Given the description of an element on the screen output the (x, y) to click on. 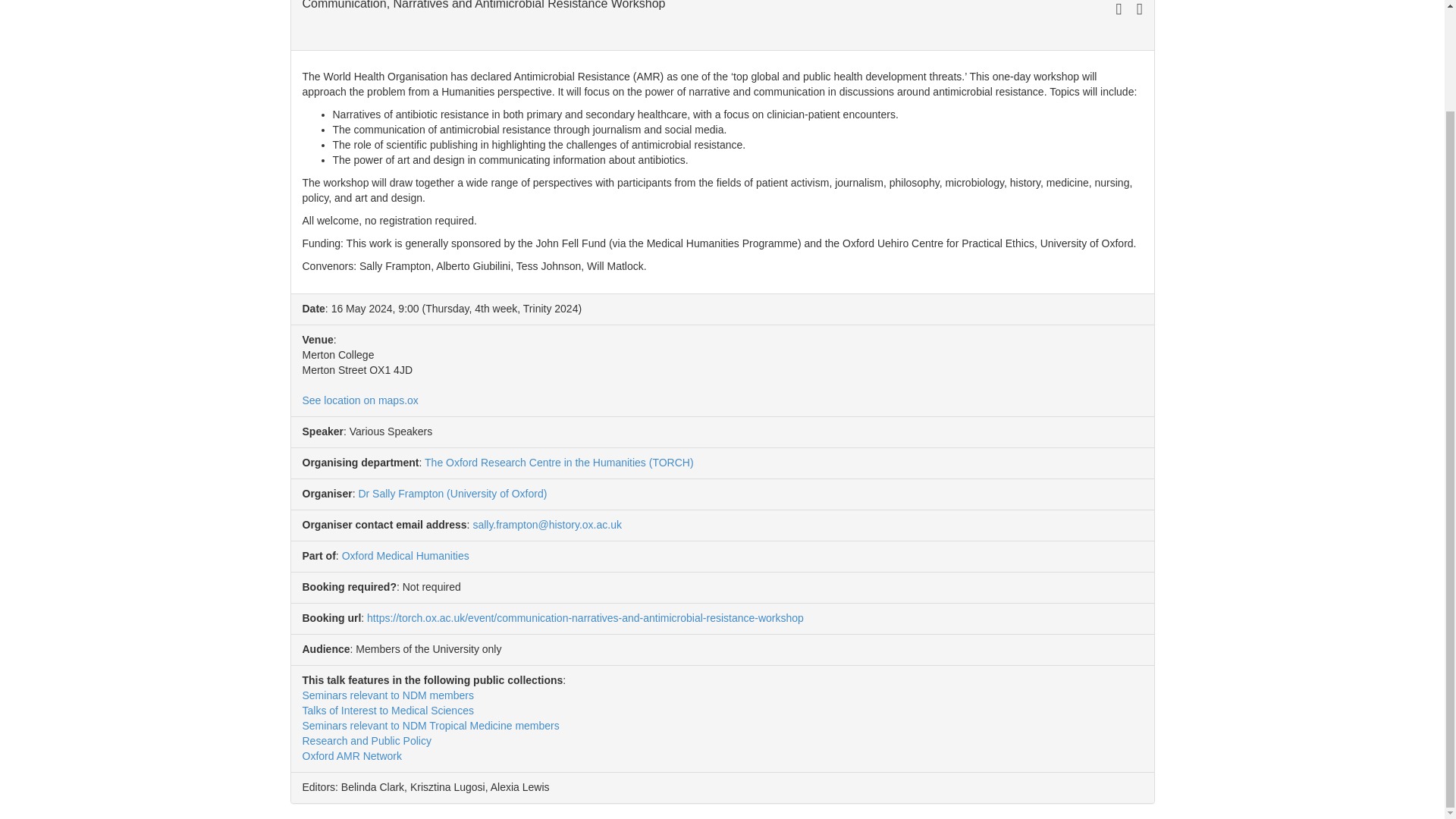
Research and Public Policy (365, 740)
Seminars relevant to NDM members (387, 695)
See location on maps.ox (359, 399)
Oxford AMR Network (351, 756)
Talks of Interest to Medical Sciences (387, 710)
Seminars relevant to NDM Tropical Medicine members (430, 725)
Oxford Medical Humanities (405, 555)
